Given the description of an element on the screen output the (x, y) to click on. 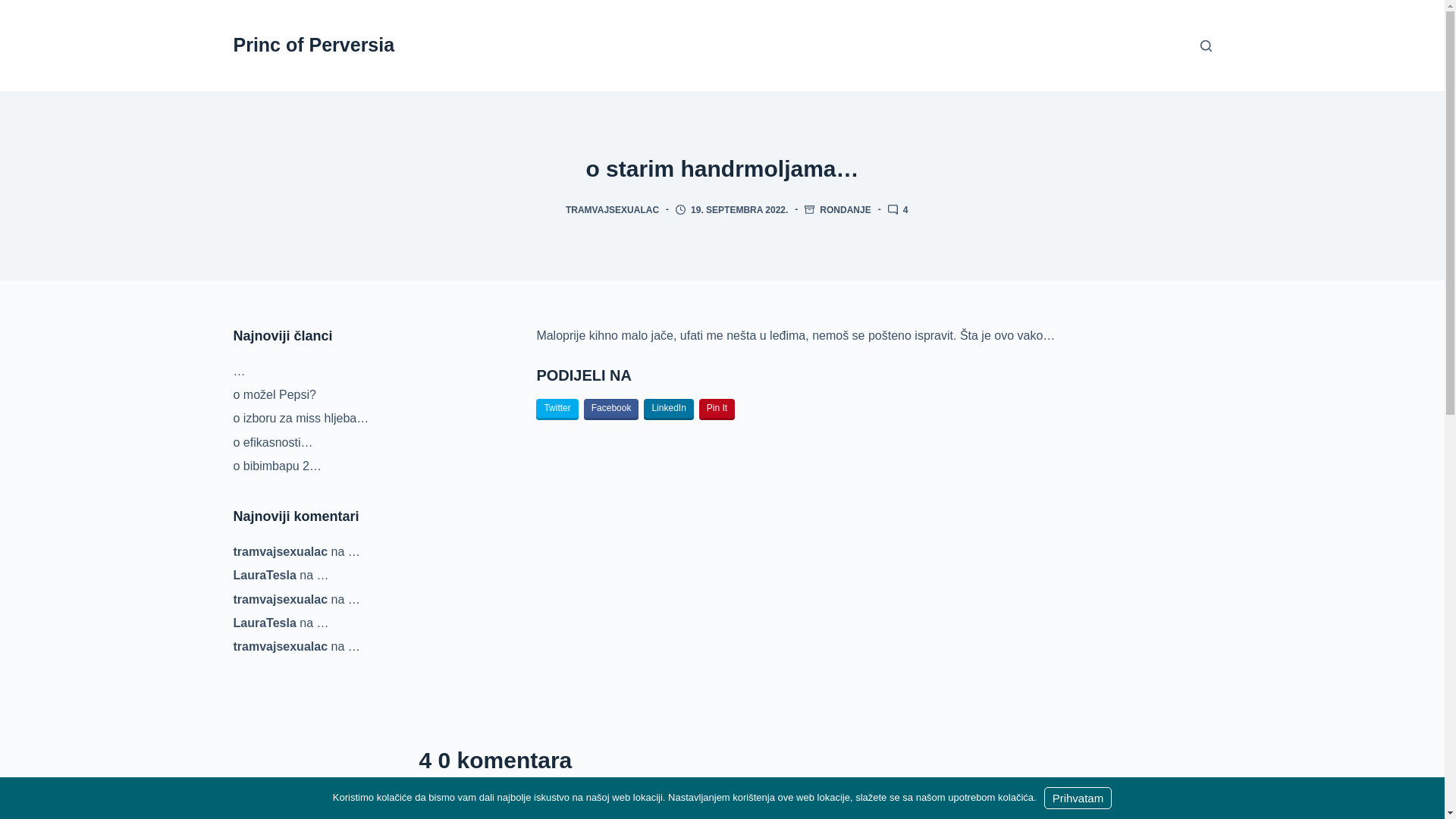
Pin It Element type: text (716, 409)
Skip to content Element type: text (15, 7)
Facebook Element type: text (611, 409)
Princ of Perversia Element type: text (314, 44)
LauraTesla Element type: text (264, 574)
LauraTesla Element type: text (264, 622)
RONDANJE Element type: text (844, 209)
LinkedIn Element type: text (668, 409)
Prihvatam Element type: text (1078, 798)
TRAMVAJSEXUALAC Element type: text (611, 209)
4 Element type: text (905, 209)
Twitter Element type: text (556, 409)
